Given the description of an element on the screen output the (x, y) to click on. 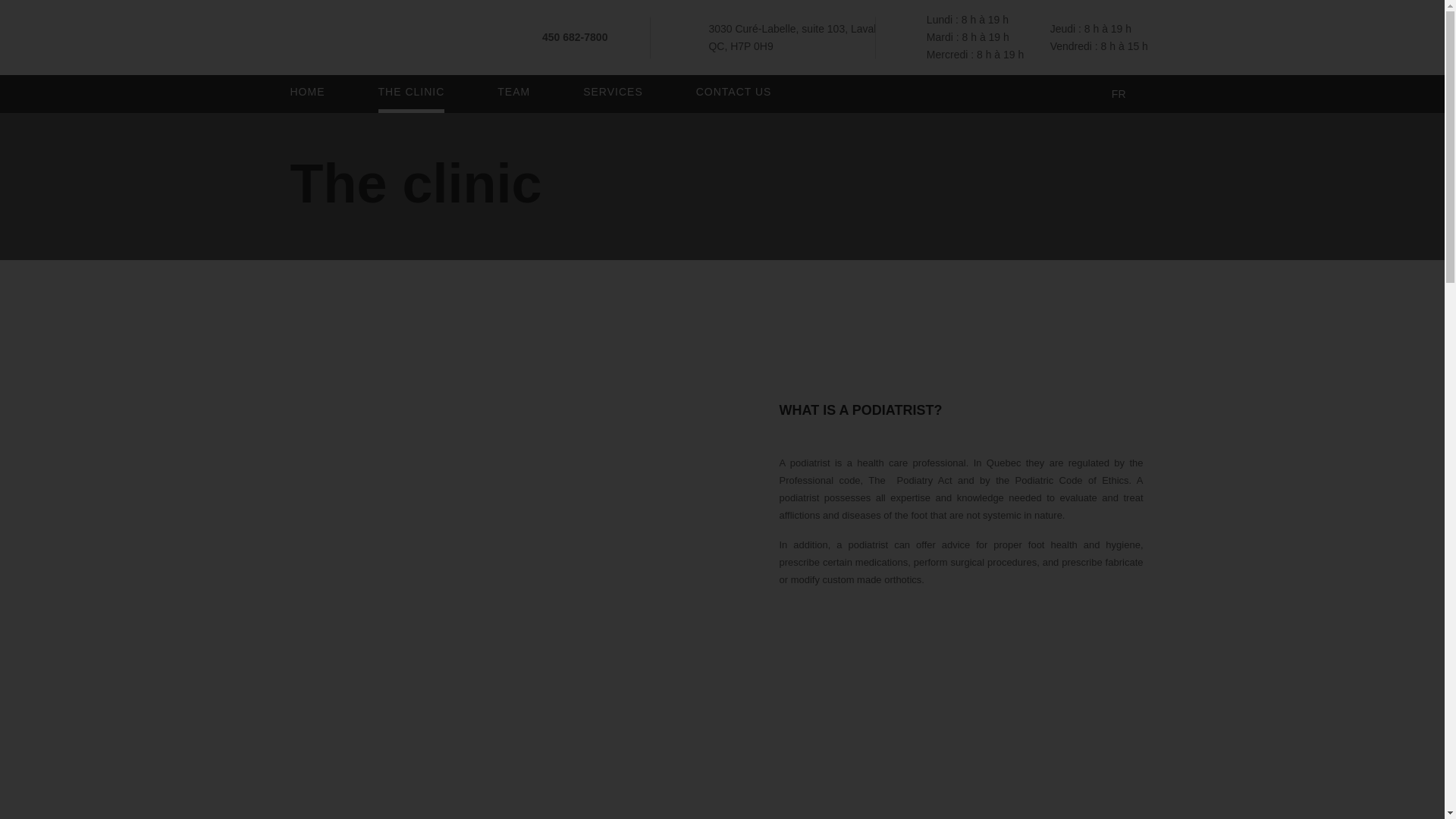
FR (1118, 94)
CONTACT US (733, 91)
SERVICES (613, 91)
TEAM (513, 91)
Podiatry (914, 480)
THE CLINIC (410, 91)
HOME (306, 91)
